Given the description of an element on the screen output the (x, y) to click on. 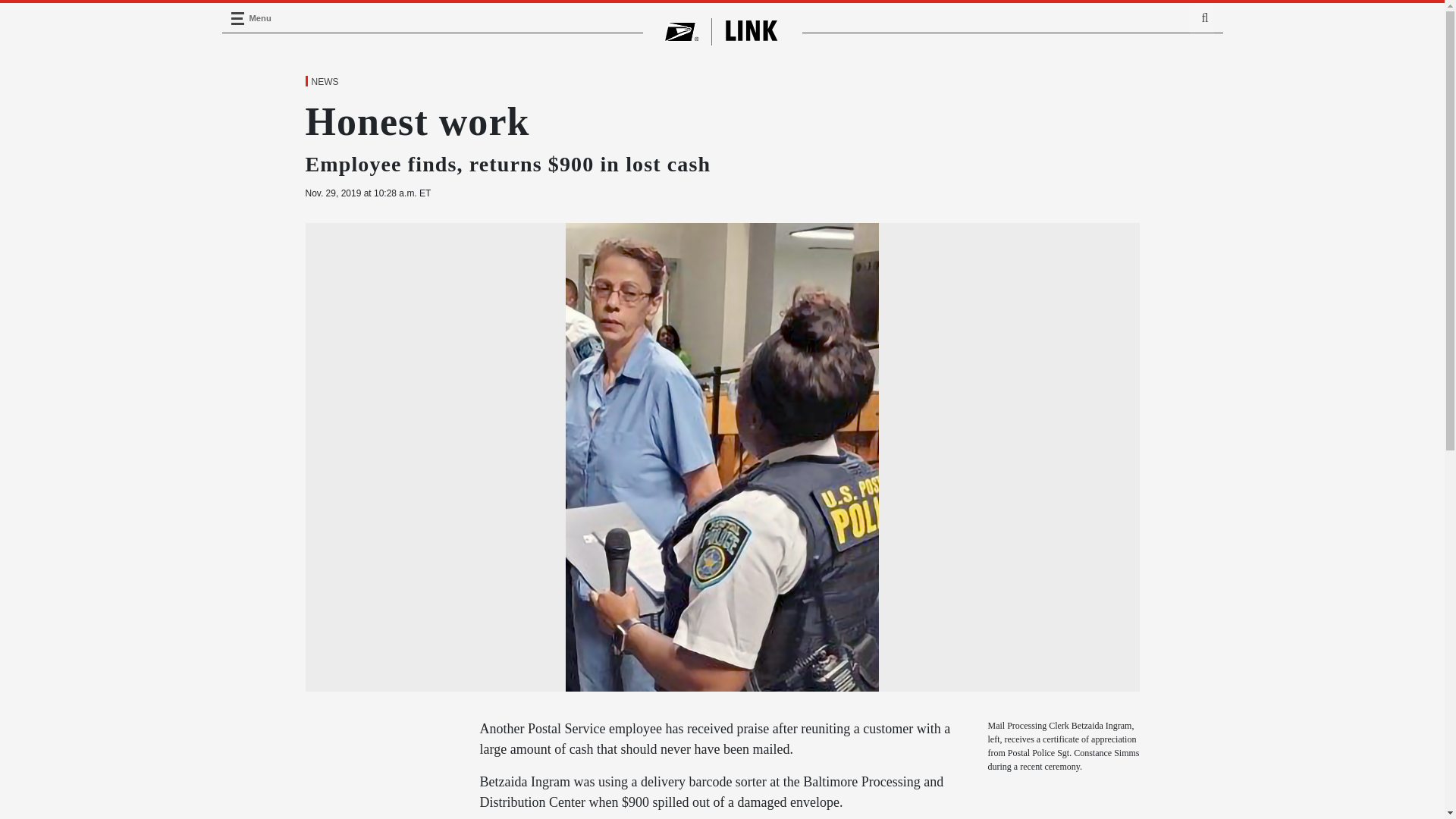
Menu (237, 18)
NEWS (323, 81)
